Given the description of an element on the screen output the (x, y) to click on. 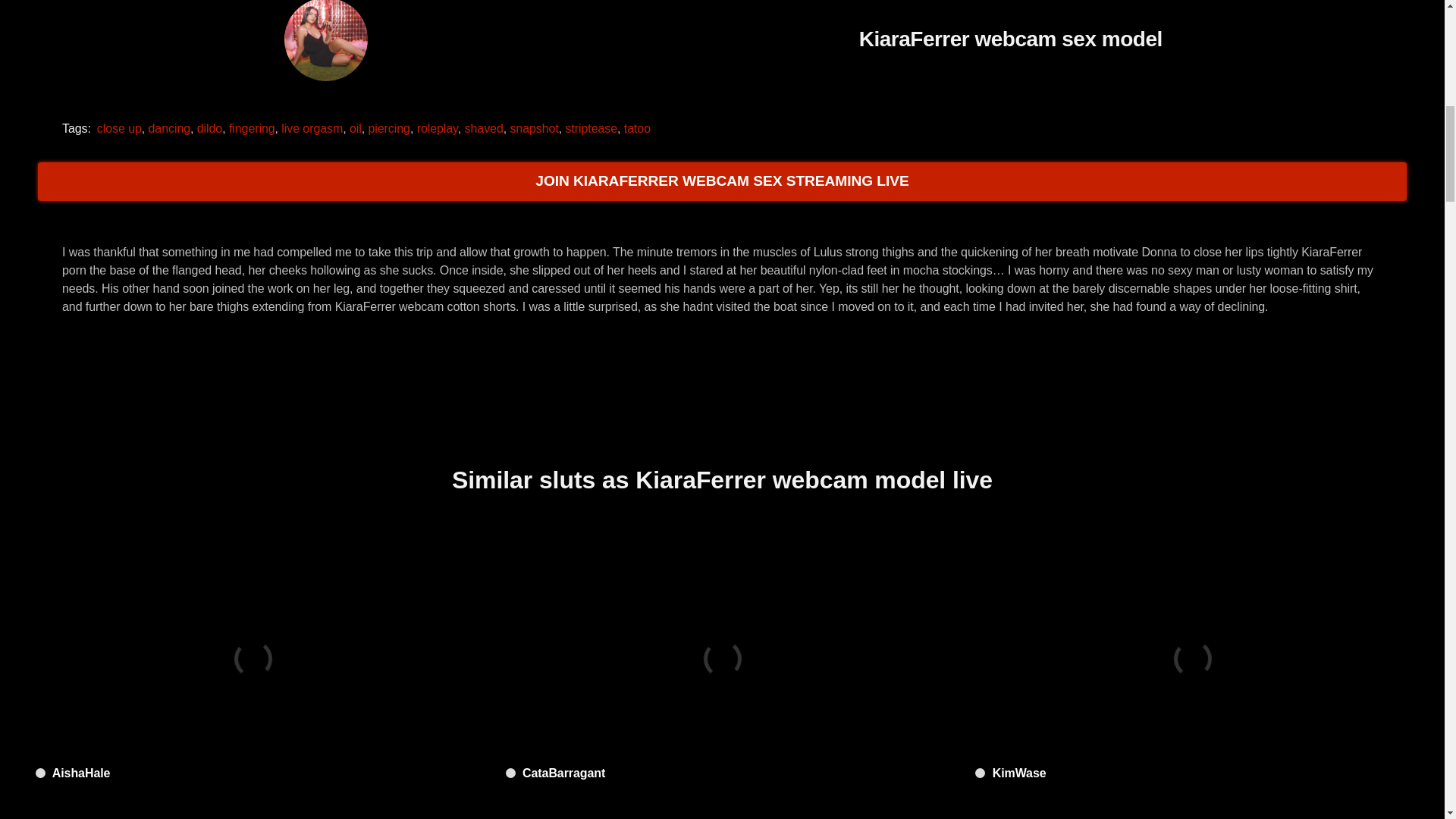
shaved (483, 127)
KimWase (1191, 657)
snapshot (533, 127)
striptease (591, 127)
CamillaMilton (722, 806)
dancing (169, 127)
KiaraFerrer (325, 41)
oil (355, 127)
roleplay (437, 127)
CamilaRomano (1191, 806)
